Given the description of an element on the screen output the (x, y) to click on. 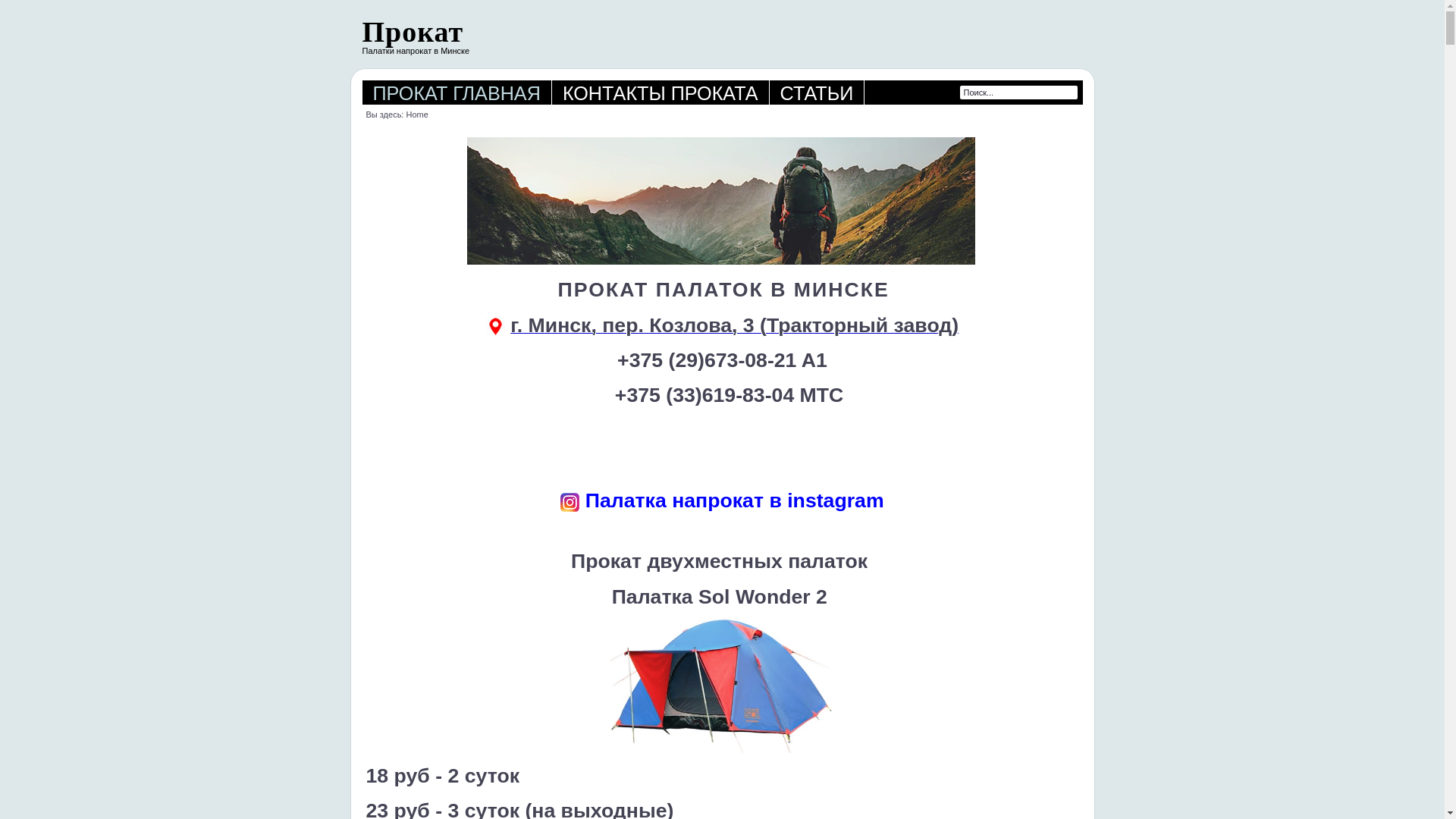
+375 (29)673-08-21 A1 Element type: text (722, 359)
+375 (33)619-83-04 MTC Element type: text (729, 394)
